Given the description of an element on the screen output the (x, y) to click on. 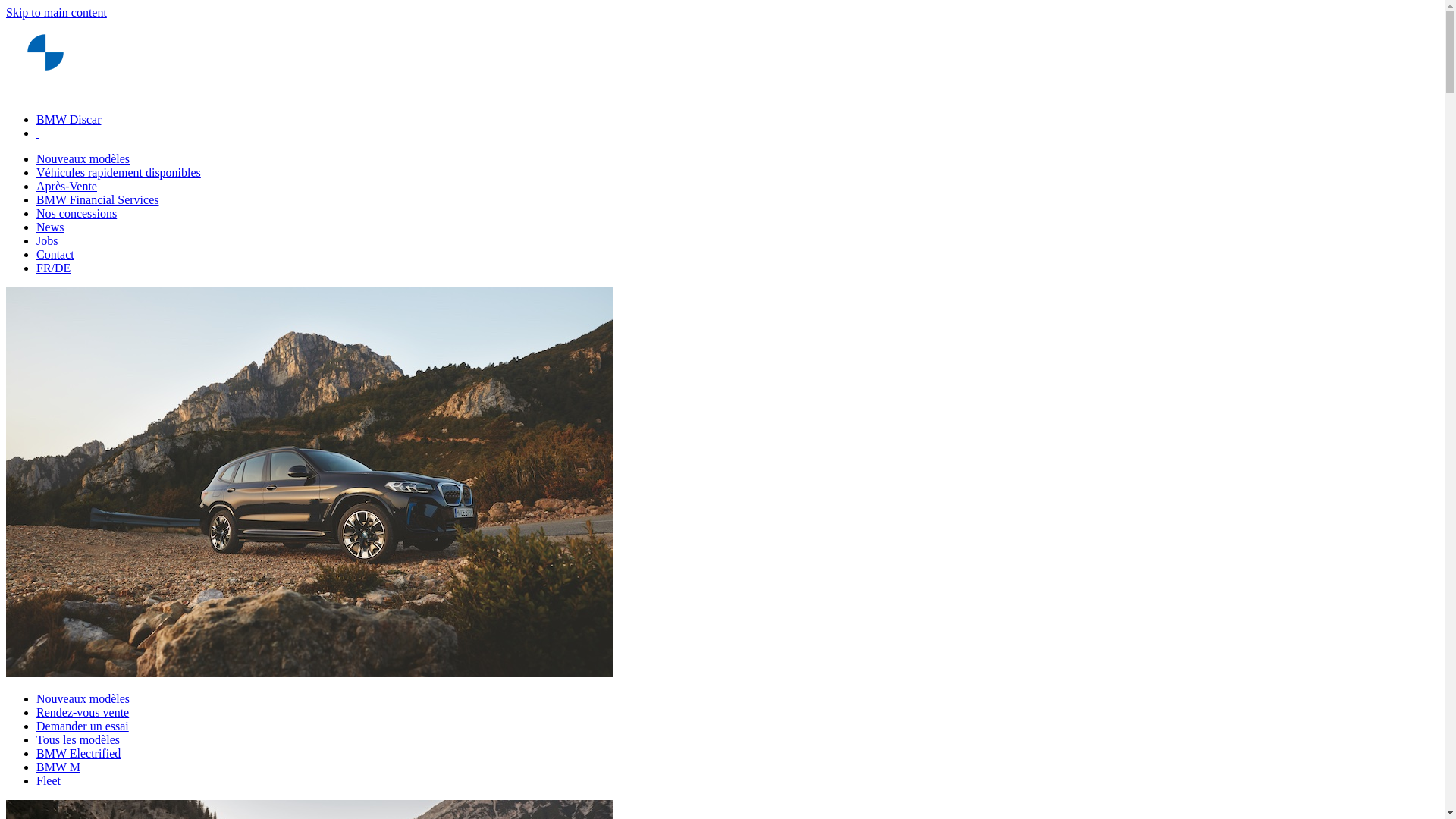
Skip to main content Element type: text (56, 12)
Demander un essai Element type: text (82, 725)
BMW Discar Element type: text (68, 118)
BMW Financial Services Element type: text (97, 199)
Nos concessions Element type: text (76, 213)
Home Element type: hover (45, 93)
BMW Electrified Element type: text (78, 752)
News Element type: text (49, 226)
Jobs Element type: text (46, 240)
Rendez-vous vente Element type: text (82, 712)
FR/DE Element type: text (53, 267)
Contact Element type: text (55, 253)
BMW M Element type: text (58, 766)
  Element type: text (37, 132)
Fleet Element type: text (48, 780)
